Given the description of an element on the screen output the (x, y) to click on. 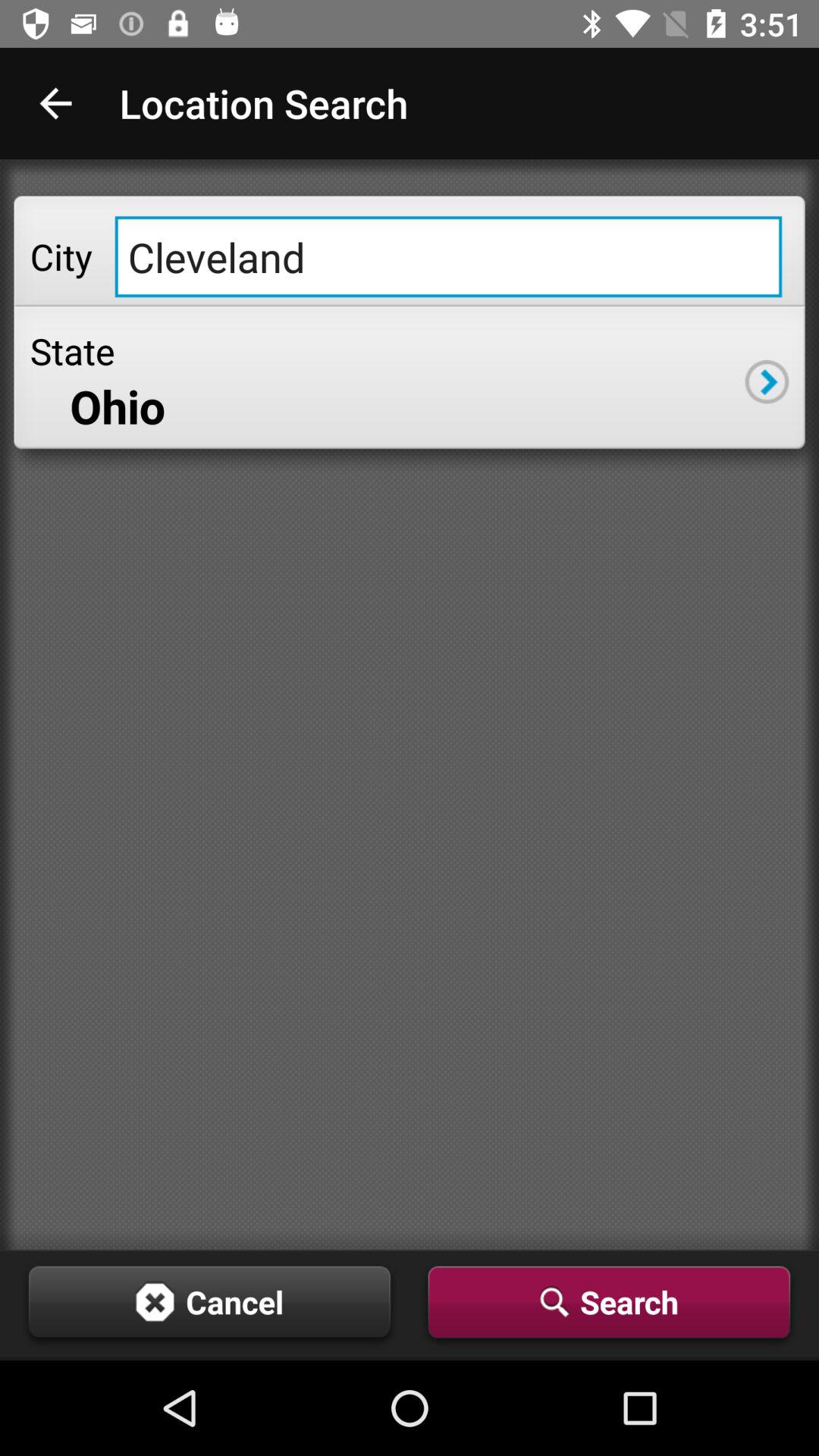
jump to cleveland (448, 256)
